Given the description of an element on the screen output the (x, y) to click on. 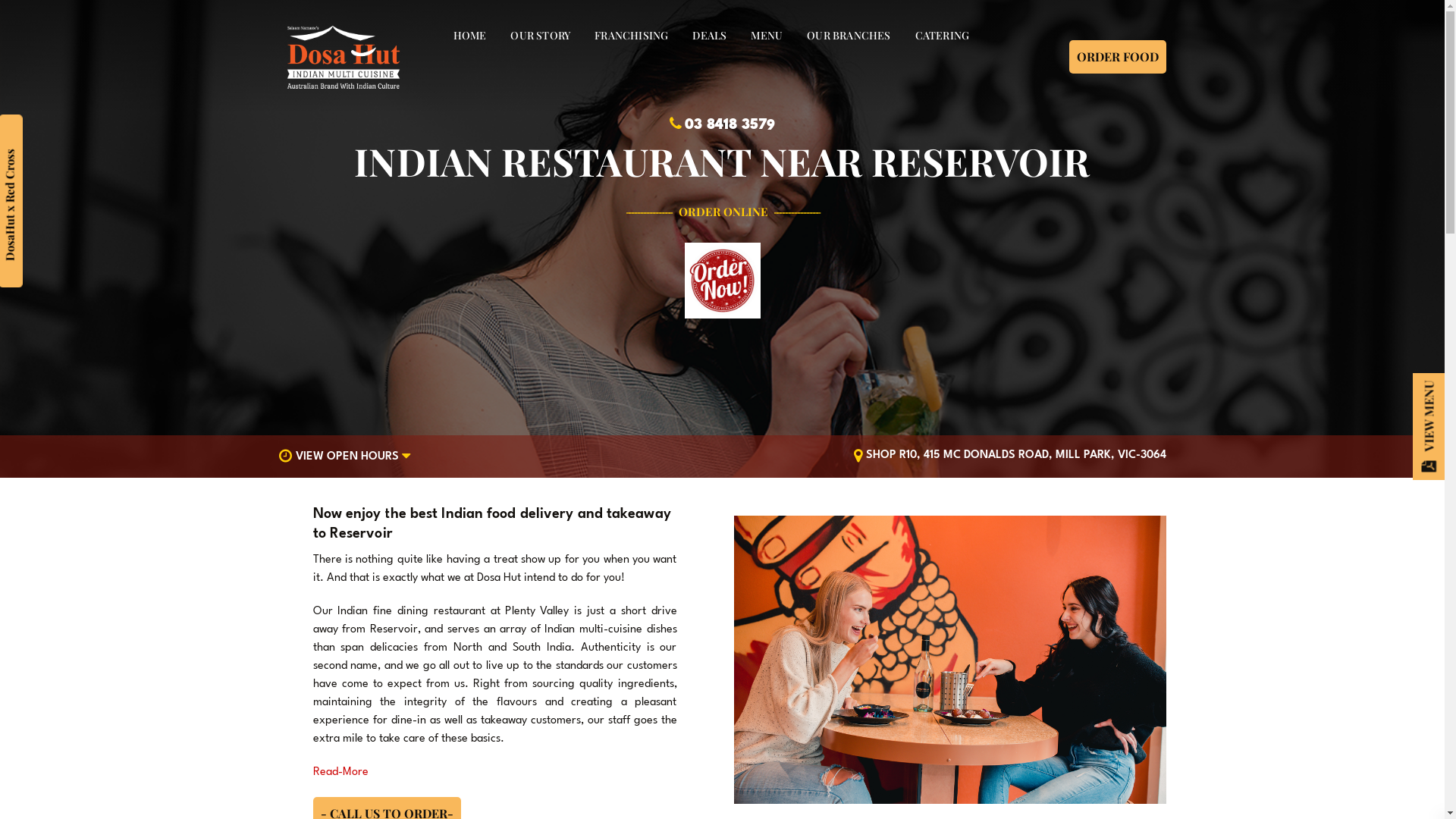
HOME Element type: text (469, 35)
DEALS Element type: text (709, 35)
Dosa Hut Element type: hover (343, 56)
OUR BRANCHES Element type: text (848, 35)
VIEW OPEN HOURS Element type: text (346, 455)
ORDER FOOD Element type: text (1117, 56)
OUR STORY Element type: text (540, 35)
CATERING Element type: text (942, 35)
MENU Element type: text (766, 35)
FRANCHISING Element type: text (631, 35)
03 8418 3579 Element type: text (729, 124)
